Given the description of an element on the screen output the (x, y) to click on. 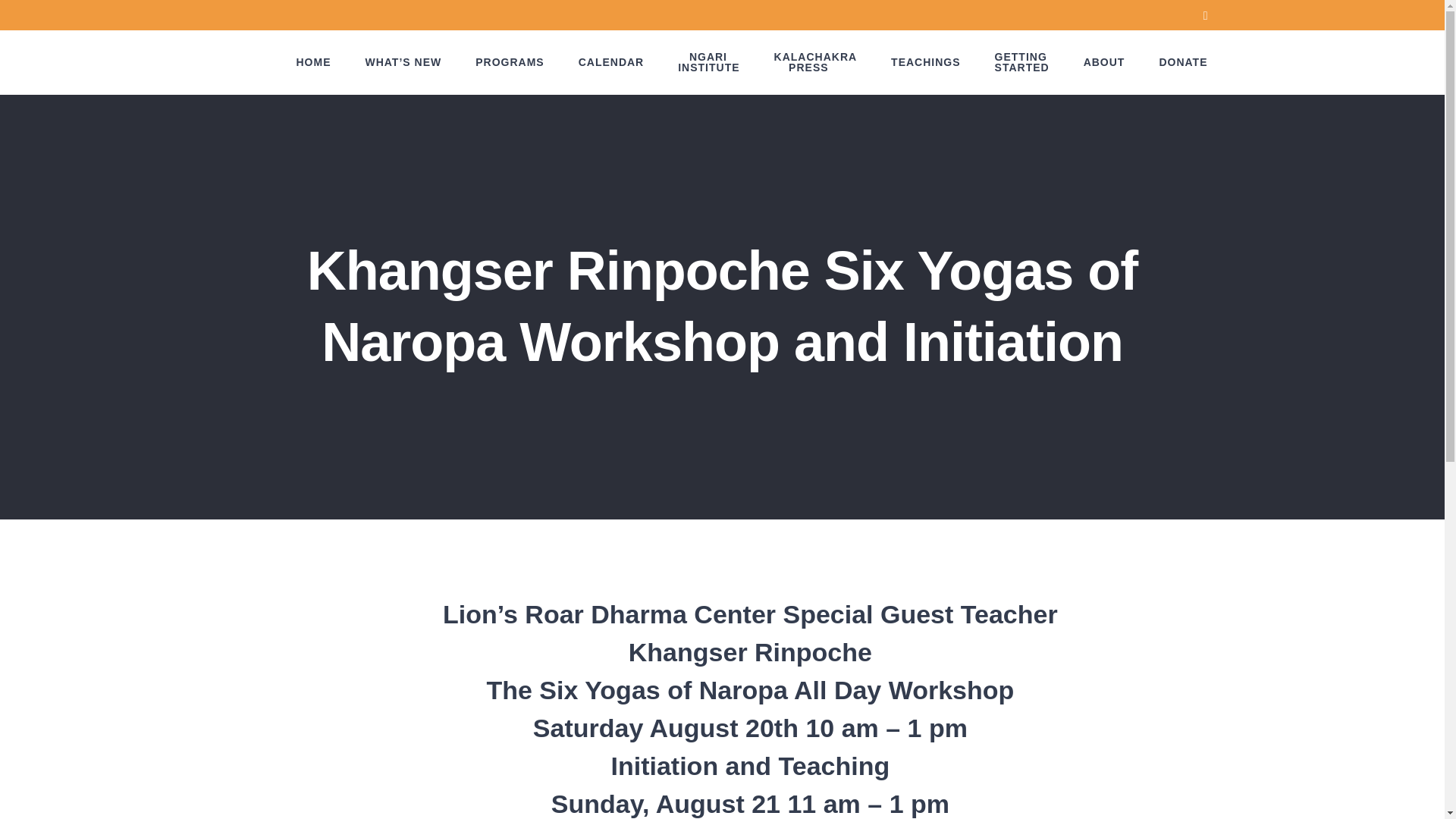
PROGRAMS (509, 62)
Teachings (925, 62)
Ngari Institute of Buddhist Dialectics, Ladakh, India (708, 62)
Calendar (611, 62)
CALENDAR (708, 62)
TEACHINGS (611, 62)
